Given the description of an element on the screen output the (x, y) to click on. 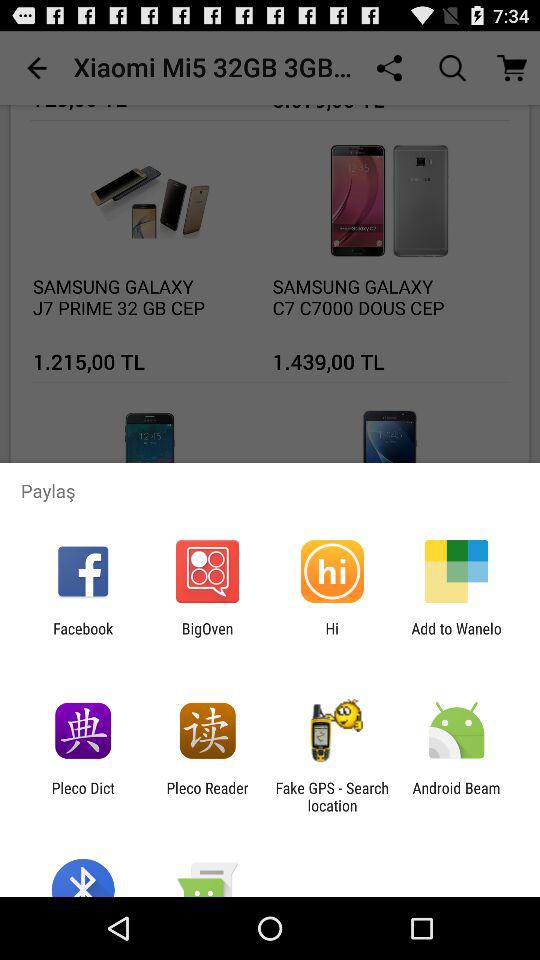
choose the icon to the right of bigoven icon (331, 637)
